Given the description of an element on the screen output the (x, y) to click on. 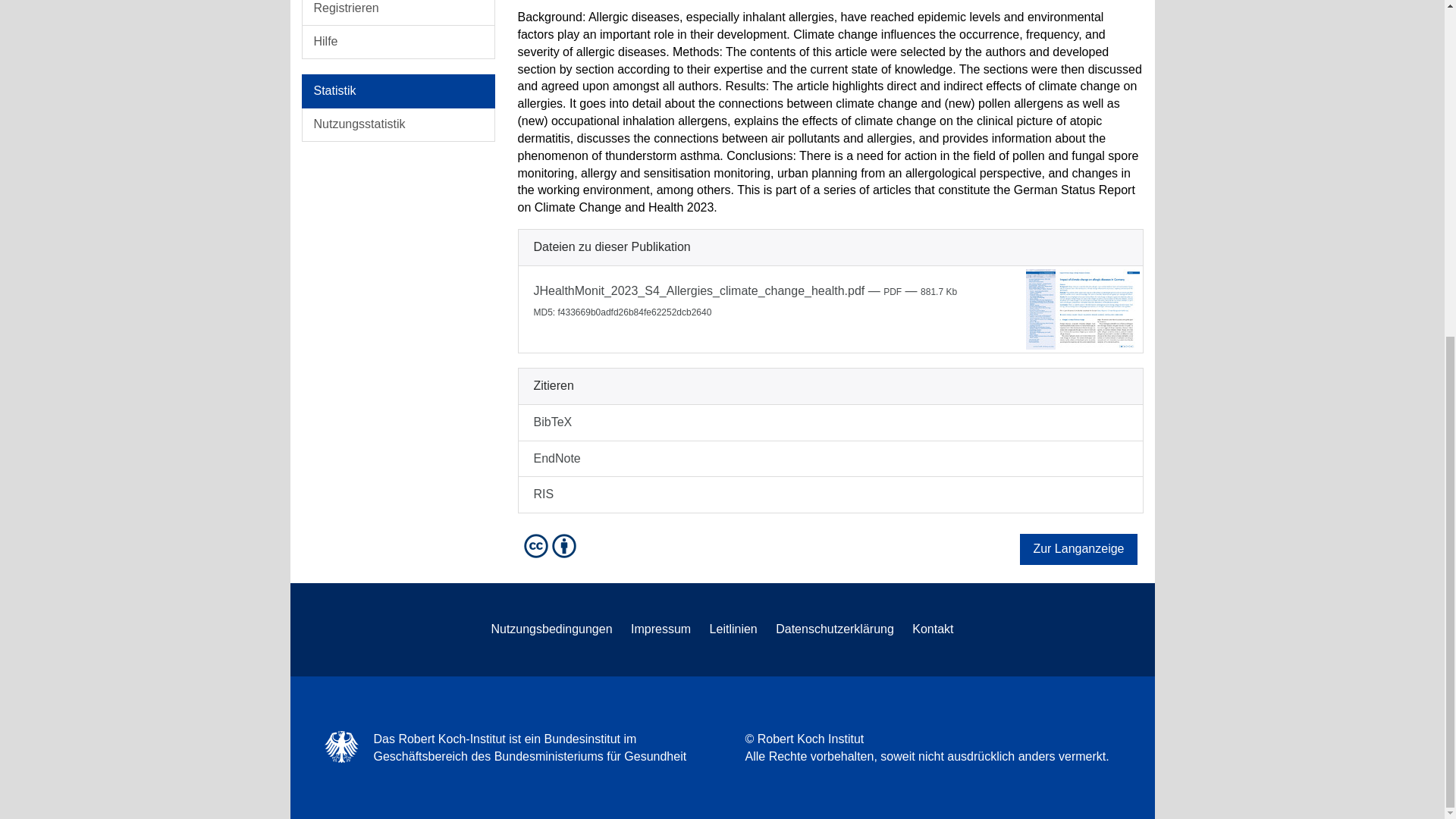
Hilfe (398, 41)
Nutzungsstatistik (398, 124)
Statistik (398, 91)
Registrieren (398, 12)
